Given the description of an element on the screen output the (x, y) to click on. 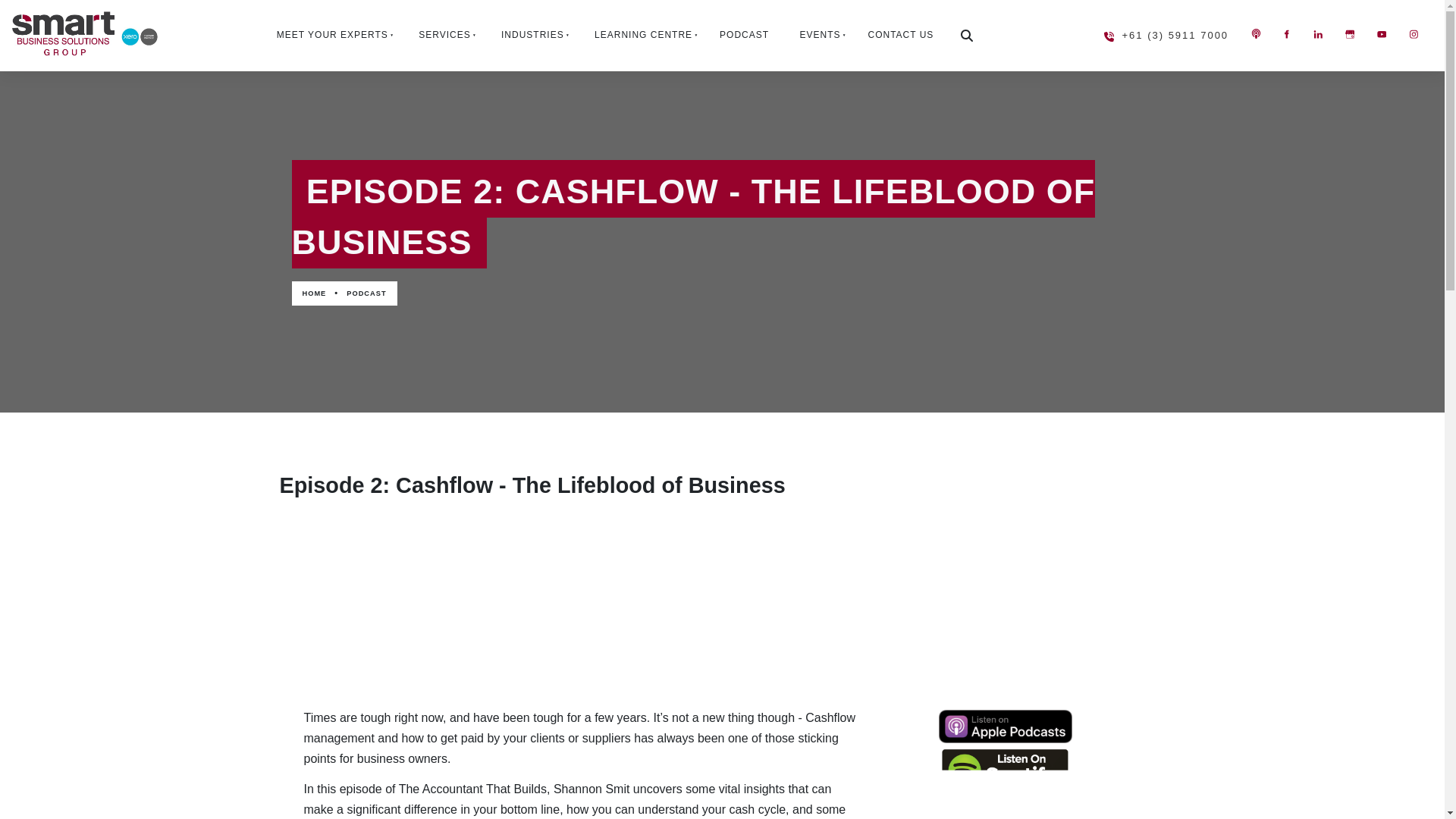
SERVICES (442, 34)
Google My Business (1350, 34)
Youtube (1381, 34)
LEARNING CENTRE (642, 34)
Facebook (1286, 34)
INDUSTRIES (531, 34)
LinkedIn (1318, 34)
Instagram (1412, 34)
Cashflow - The Lifeblood of Business (721, 602)
MEET YOUR EXPERTS (330, 34)
